Given the description of an element on the screen output the (x, y) to click on. 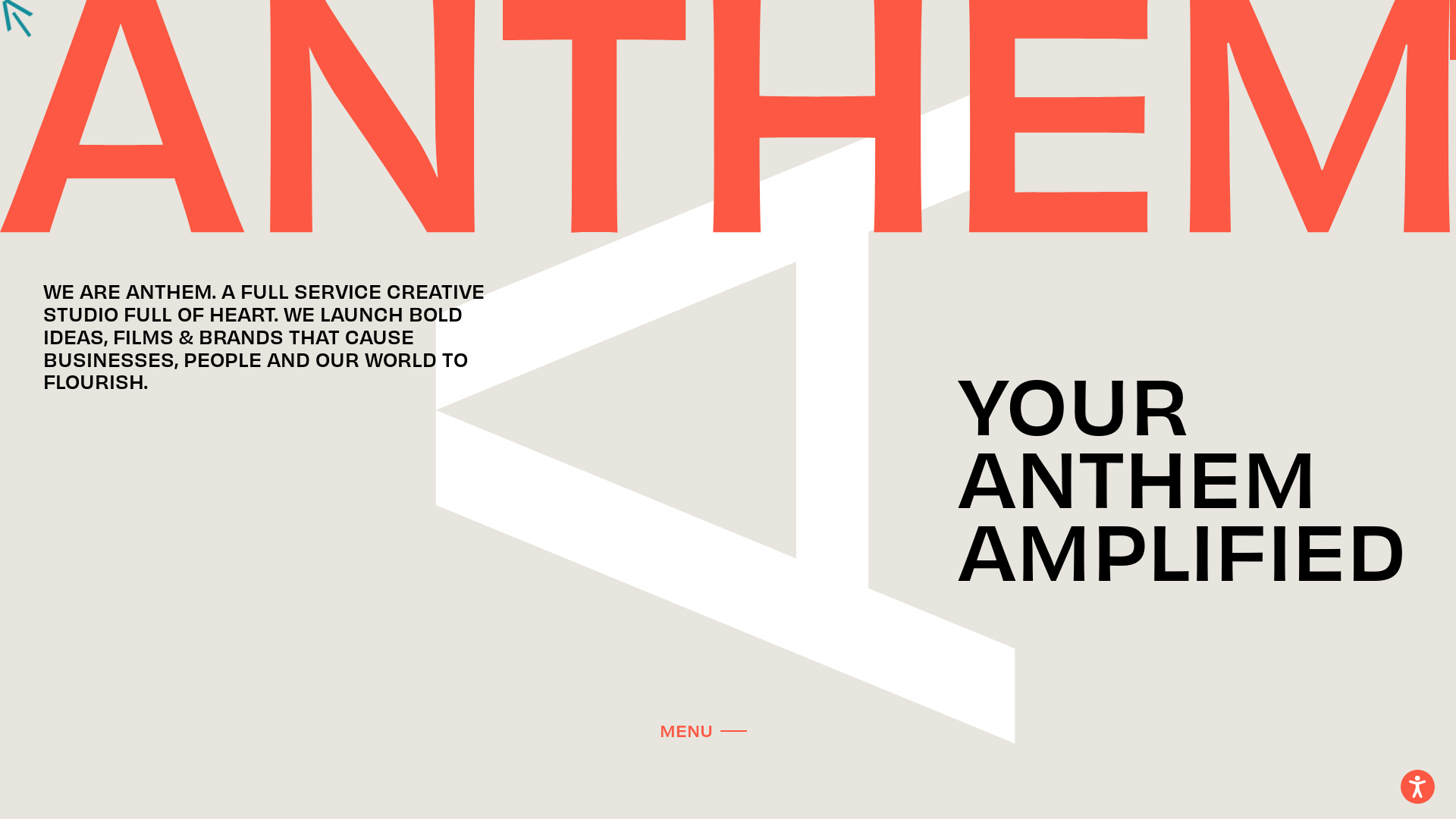
MENU Element type: text (702, 728)
